Given the description of an element on the screen output the (x, y) to click on. 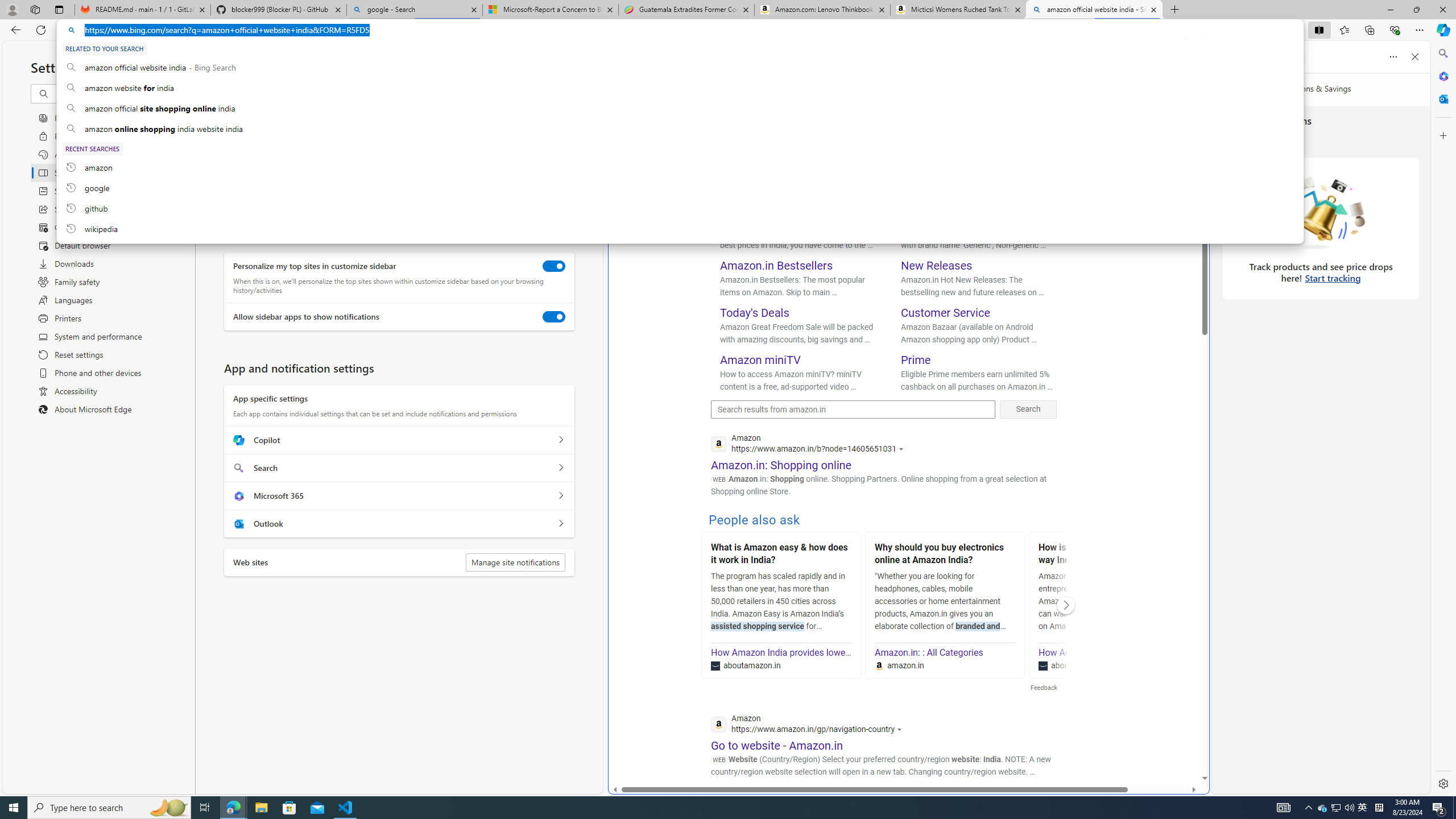
TOOLS (1048, 96)
google, recent searches from history (679, 187)
Off Sidebar will never show (235, 177)
